Given the description of an element on the screen output the (x, y) to click on. 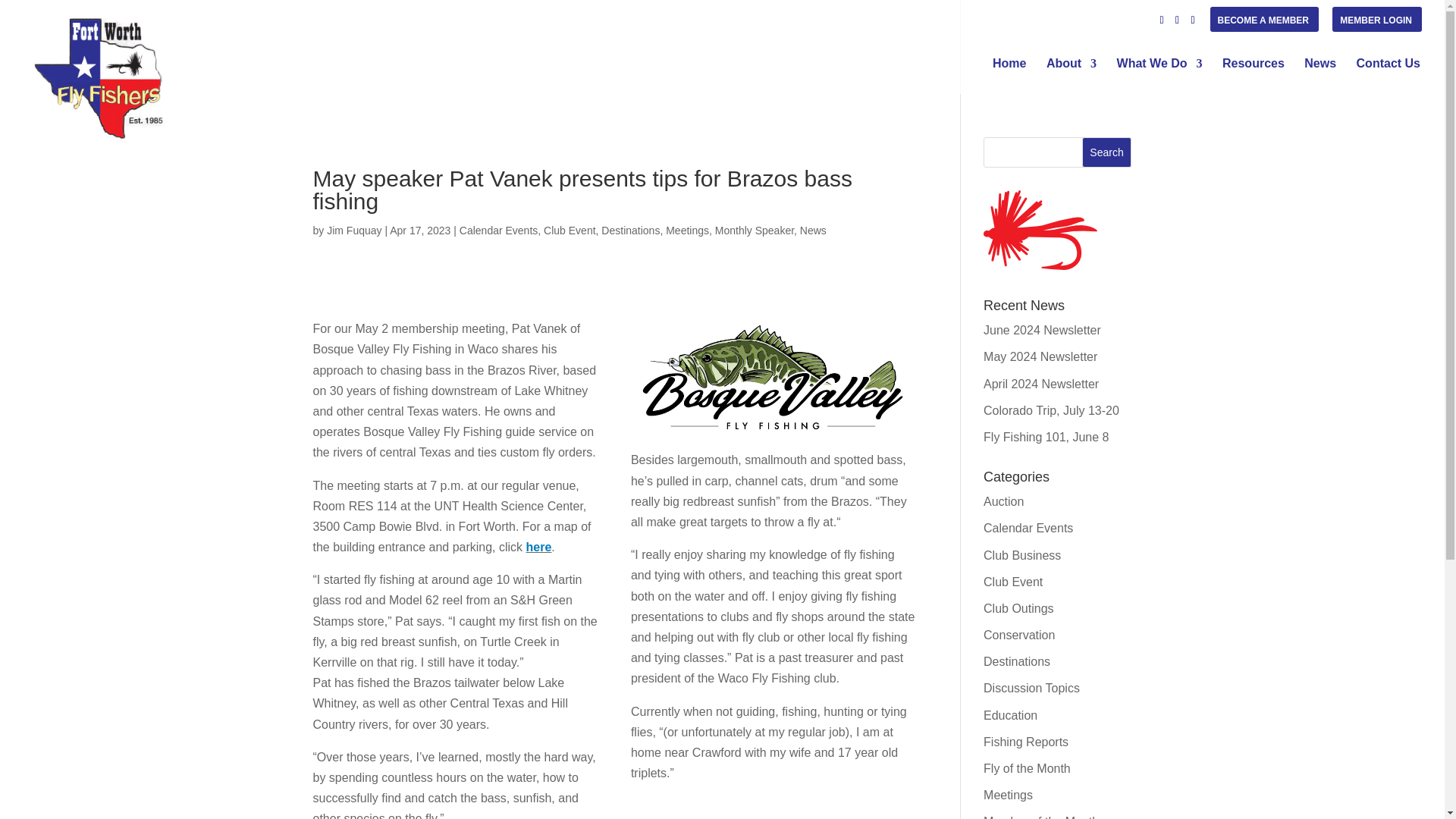
News (1320, 75)
What We Do (1159, 75)
About (1071, 75)
Bosque valley fly fishing logo (772, 375)
BECOME A MEMBER (1262, 23)
Home (1009, 75)
MEMBER LOGIN (1375, 23)
Resources (1253, 75)
Posts by Jim Fuquay (353, 230)
Contact Us (1388, 75)
Search (1106, 152)
